Given the description of an element on the screen output the (x, y) to click on. 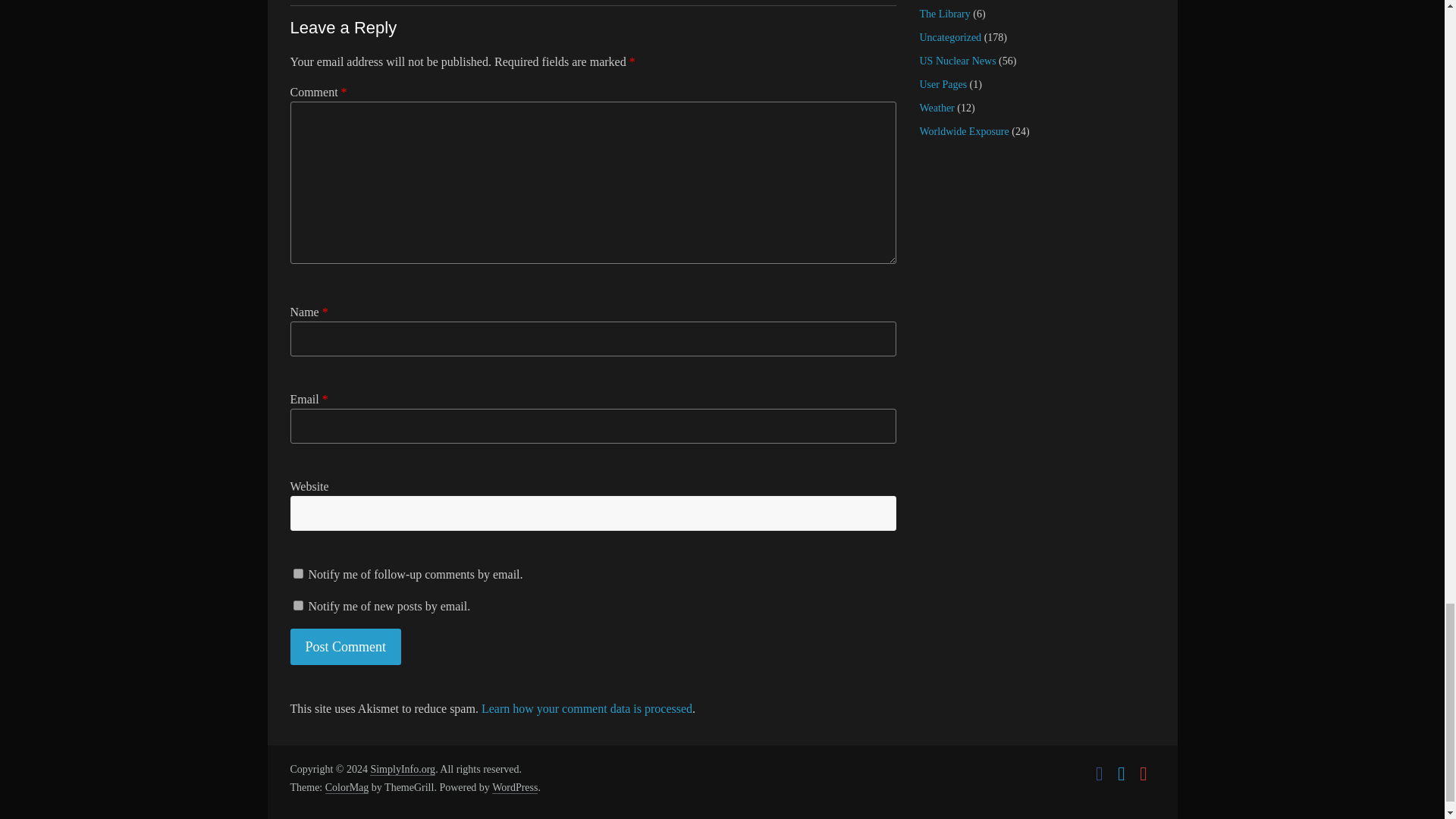
Post Comment (345, 646)
subscribe (297, 573)
subscribe (297, 605)
